Given the description of an element on the screen output the (x, y) to click on. 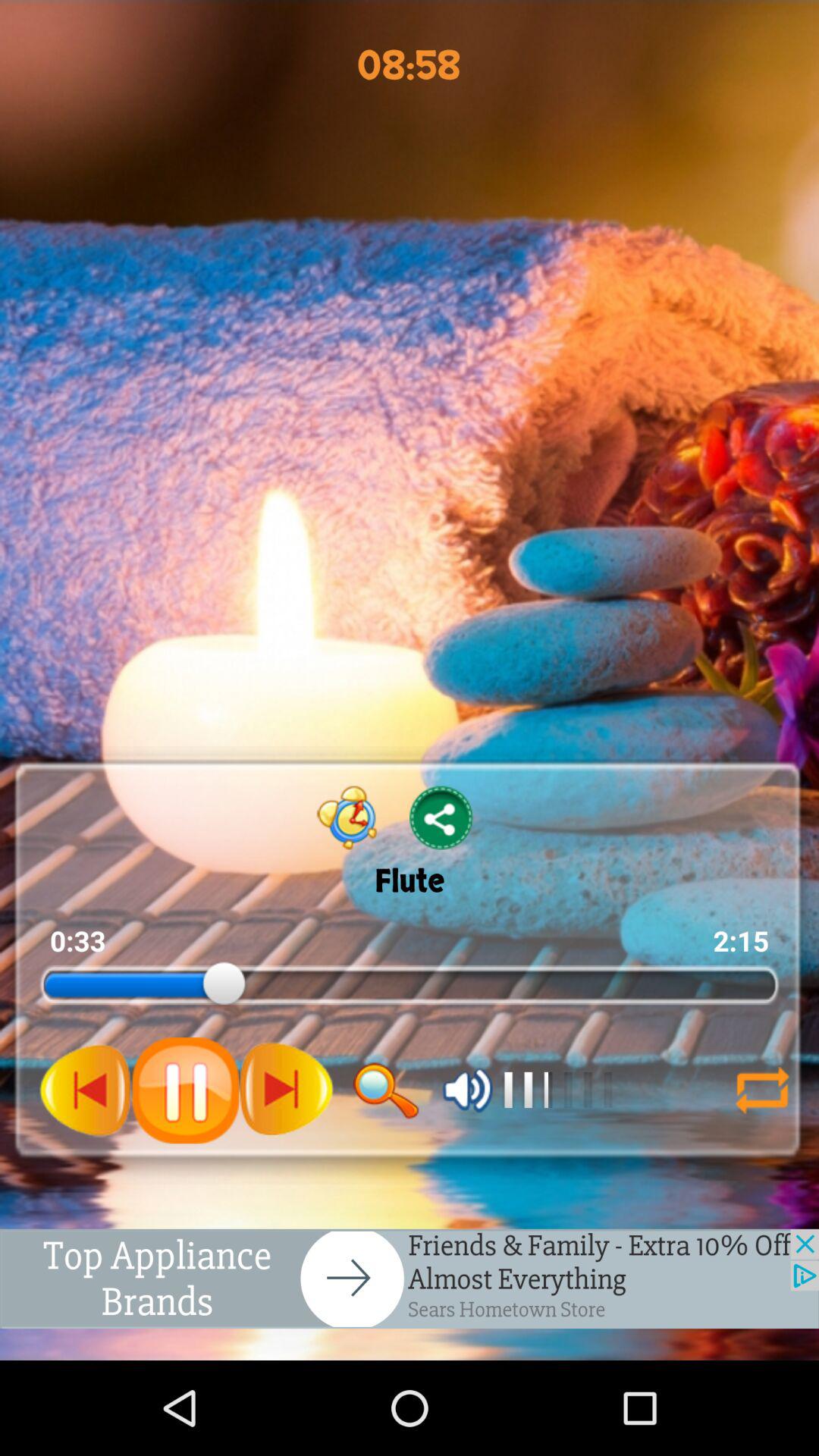
go to stop (185, 1090)
